Given the description of an element on the screen output the (x, y) to click on. 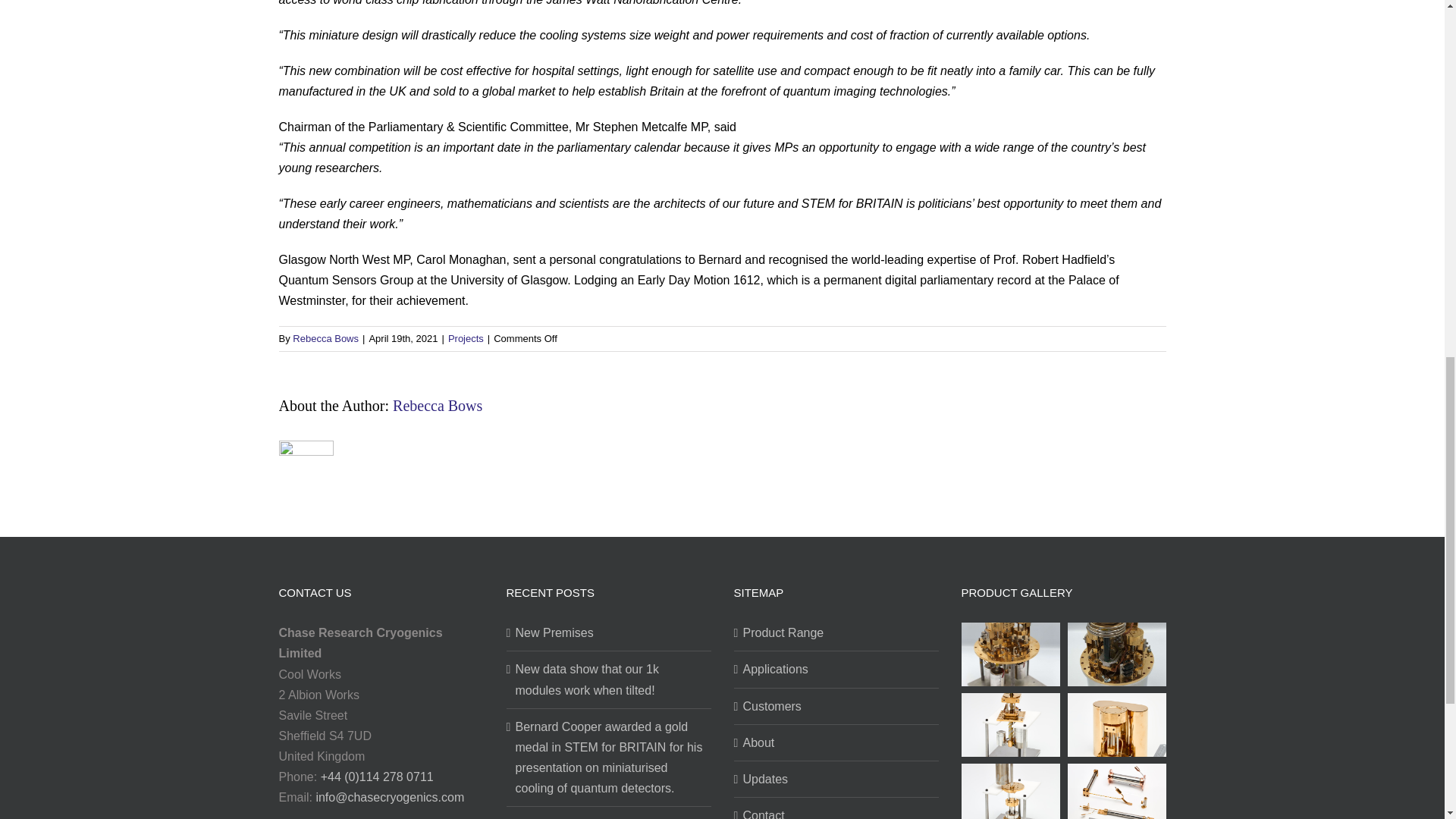
Custom Switches (1116, 791)
Posts by Rebecca Bows (437, 405)
Posts by Rebecca Bows (325, 337)
Custom GL4 (1009, 791)
Folded GL7 (1116, 723)
CCminus (1116, 653)
CC7 (1009, 653)
Custom GL7 (1009, 723)
